Given the description of an element on the screen output the (x, y) to click on. 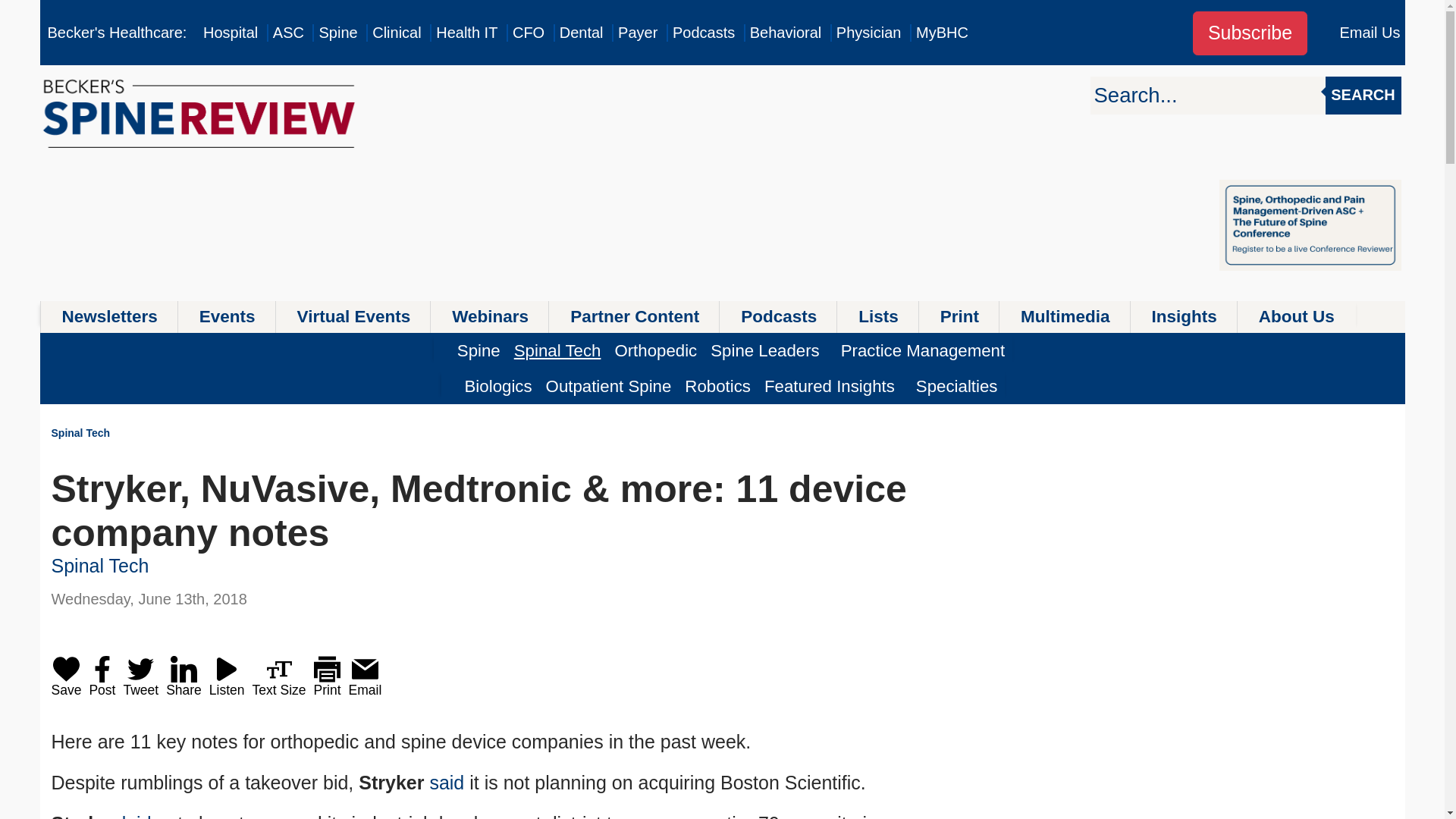
MyBHC (941, 32)
Email Us (1369, 32)
Becker's Dental Review (581, 32)
MyBHC (941, 32)
Becker's Podcasts (703, 32)
CFO (528, 32)
Dental (581, 32)
Subscribe (1249, 33)
Hospital (230, 32)
Becker's Payer Issues (637, 32)
SEARCH (1362, 95)
Becker's Behavioral Health (785, 32)
Becker's Hospital Review (230, 32)
Becker's CFO (528, 32)
Podcasts (703, 32)
